Given the description of an element on the screen output the (x, y) to click on. 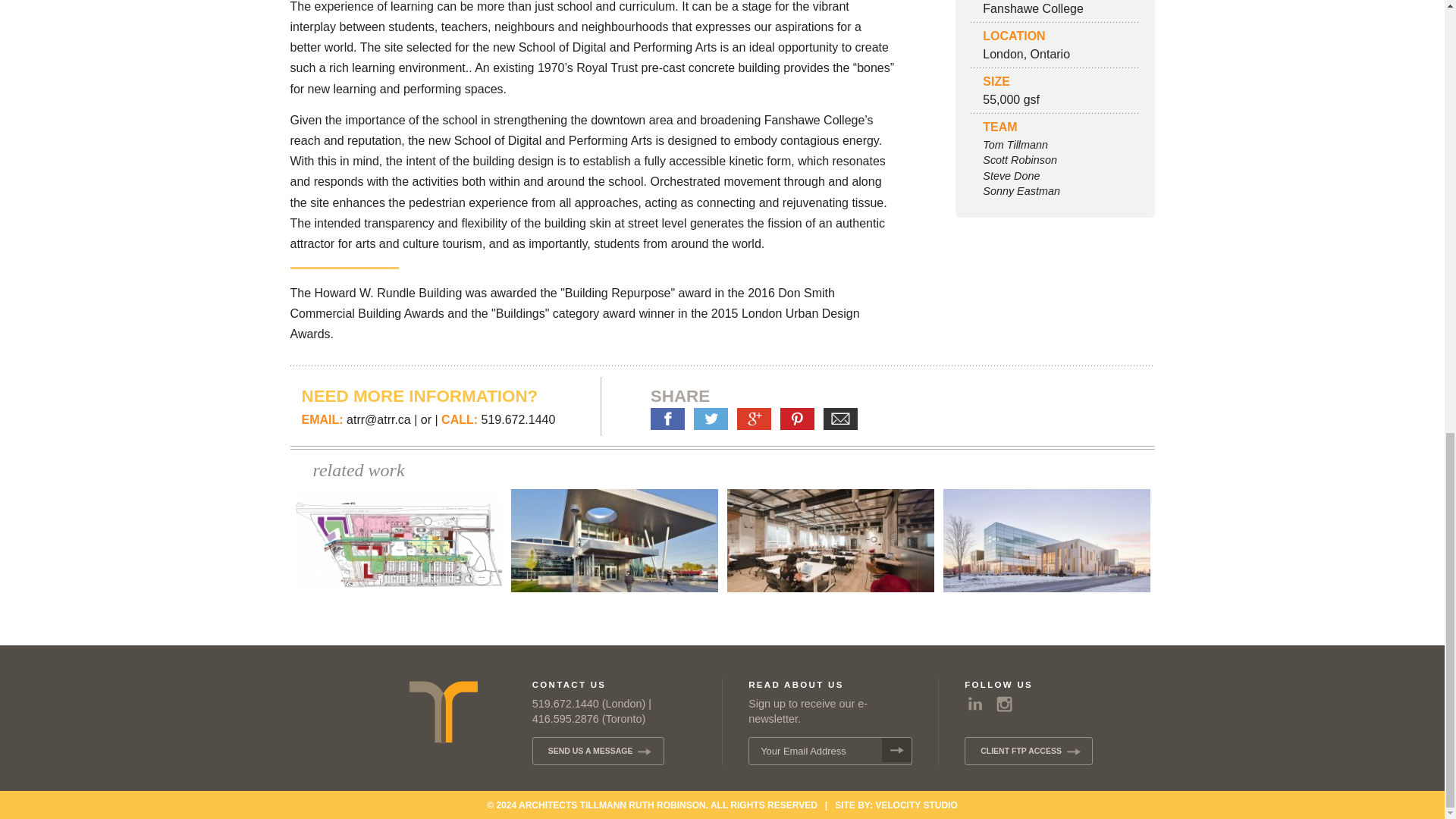
VELOCITY STUDIO (915, 805)
Facebook (667, 418)
Pinterest (796, 418)
submit (896, 749)
CLIENT FTP ACCESS (1028, 750)
SEND US A MESSAGE (597, 750)
LinkedIn (974, 705)
Email (840, 418)
submit (896, 749)
Twitter (711, 418)
